Given the description of an element on the screen output the (x, y) to click on. 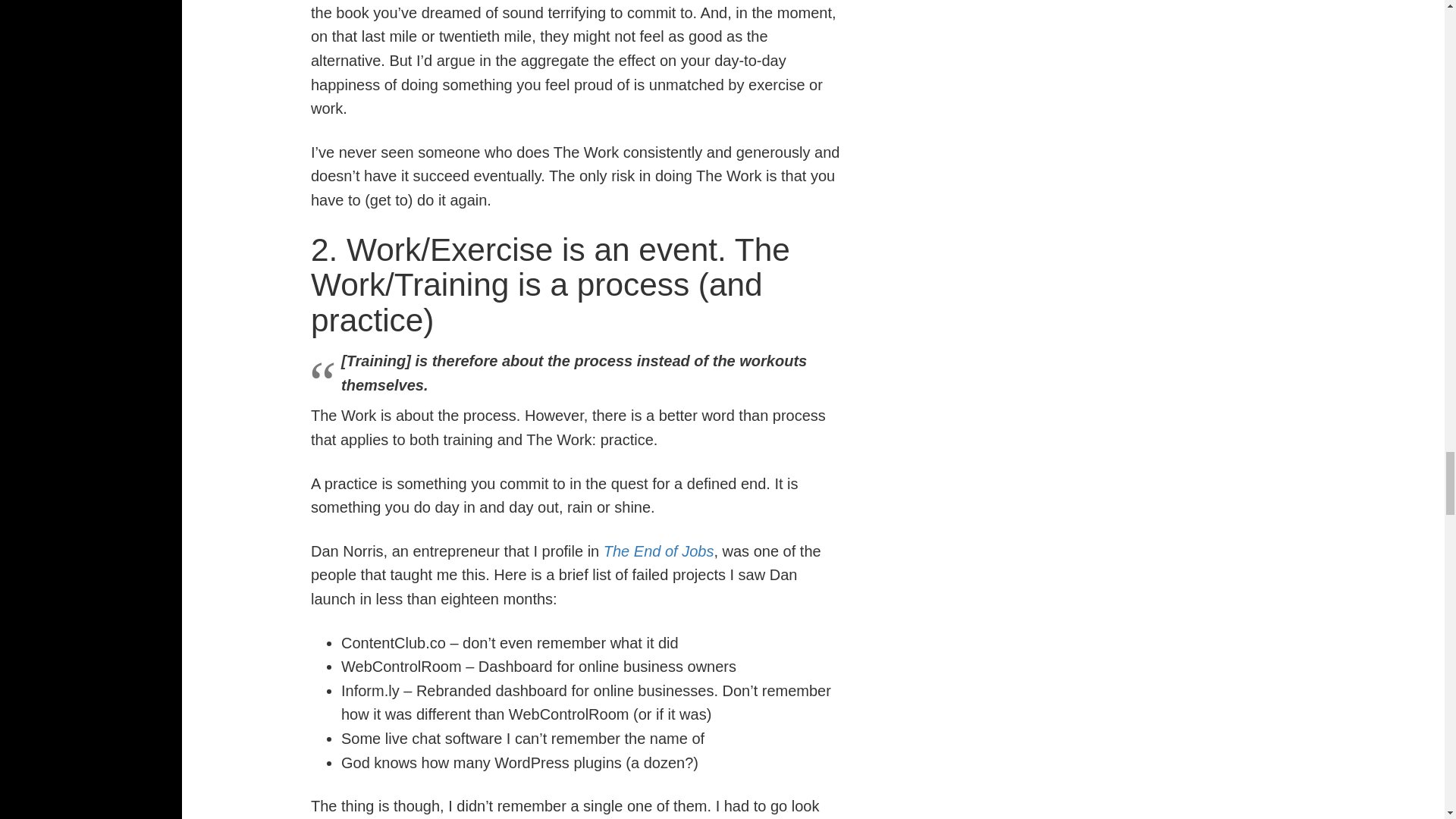
The End of Jobs (659, 550)
